Given the description of an element on the screen output the (x, y) to click on. 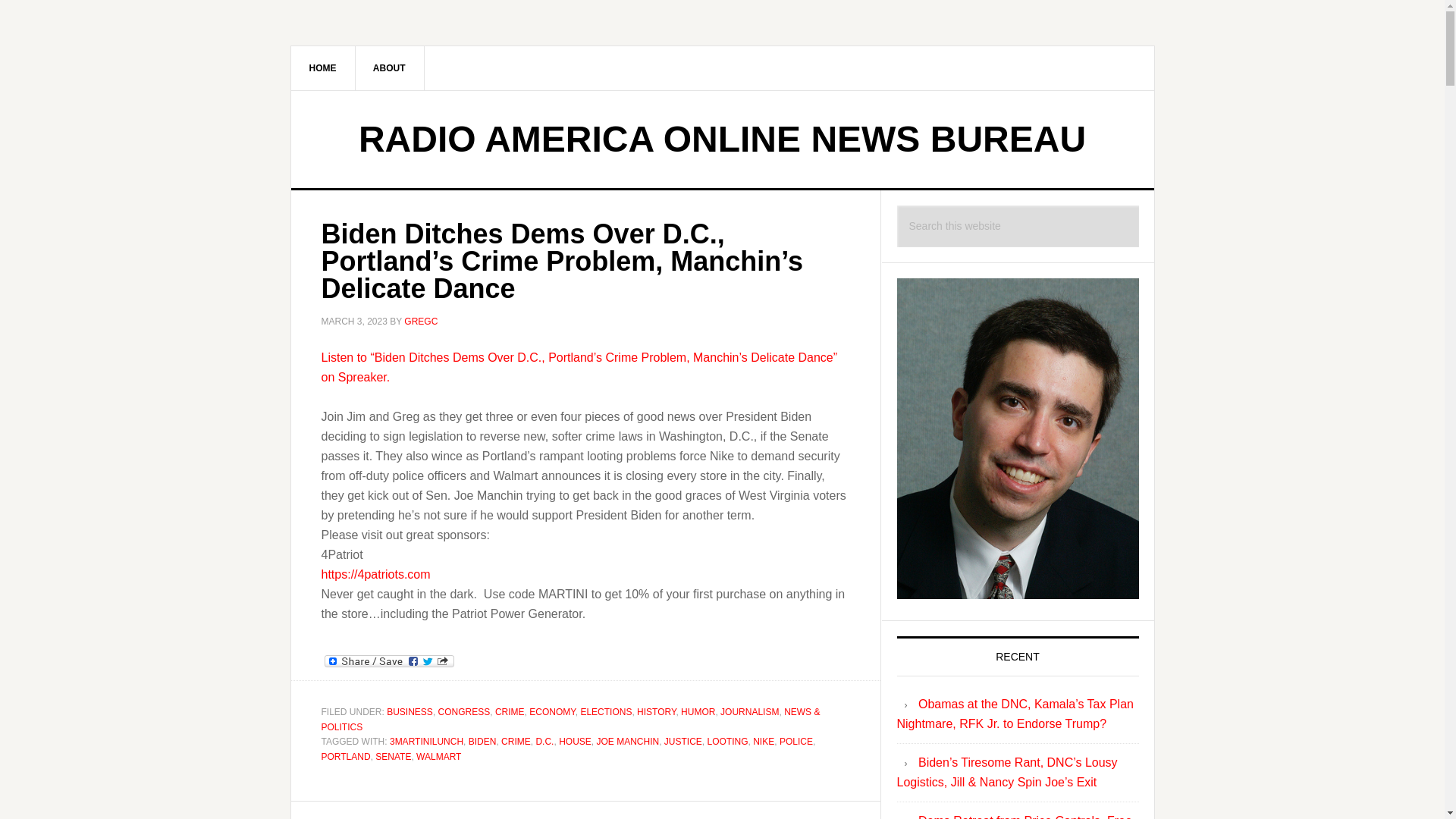
JOE MANCHIN (627, 741)
ELECTIONS (605, 711)
CONGRESS (464, 711)
HOUSE (575, 741)
JOURNALISM (749, 711)
WALMART (438, 756)
JUSTICE (682, 741)
3MARTINILUNCH (426, 741)
NIKE (763, 741)
CRIME (515, 741)
